Given the description of an element on the screen output the (x, y) to click on. 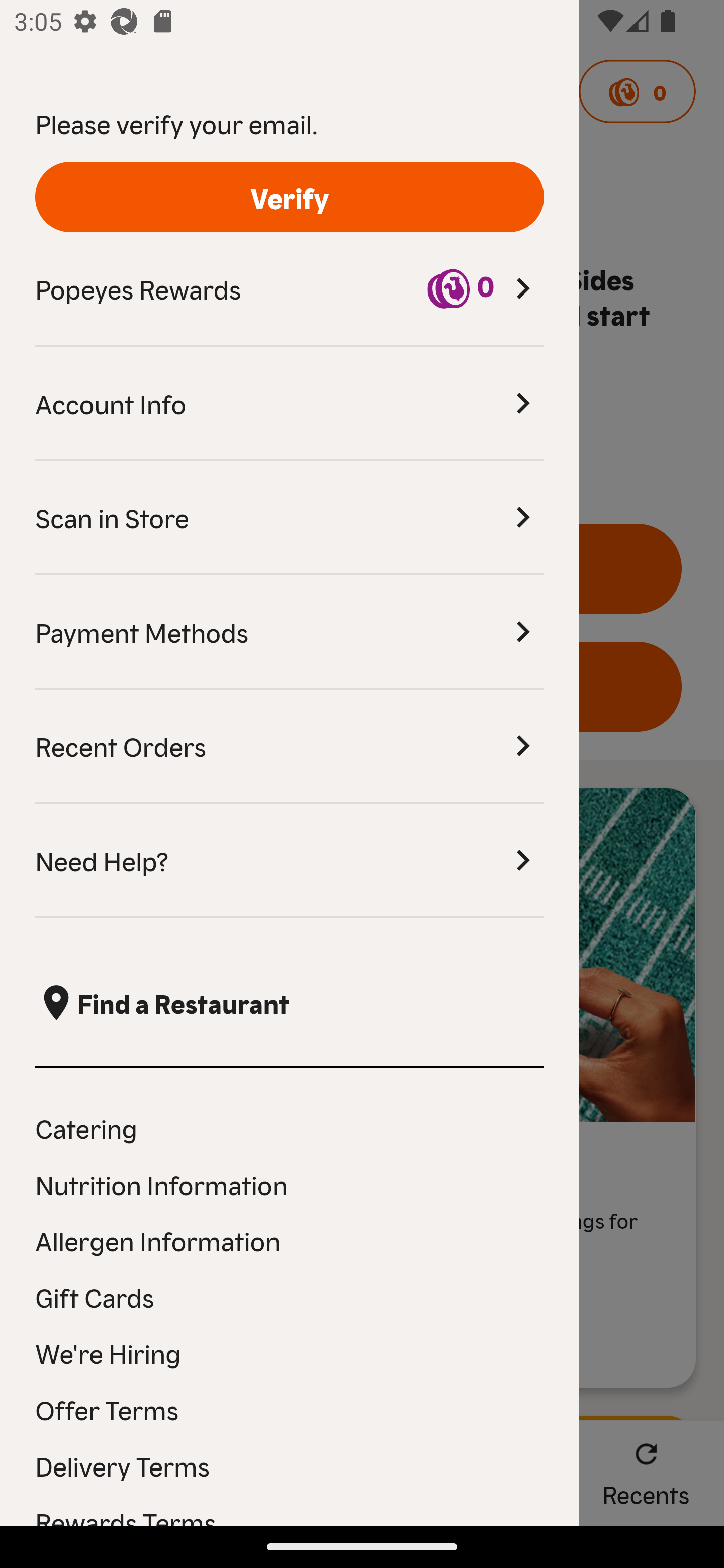
Verify (289, 196)
Account Info Account Info  (289, 403)
Scan in Store Scan in Store  (289, 517)
Payment Methods Payment Methods  (289, 632)
Recent Orders Recent Orders  (289, 746)
Need Help? Need Help?  (289, 861)
, Find a Restaurant  Find a Restaurant (289, 1002)
Catering (289, 1127)
Nutrition Information (289, 1183)
Allergen Information (289, 1240)
Gift Cards (289, 1296)
We're Hiring (289, 1352)
Offer Terms (289, 1409)
Delivery Terms (289, 1465)
